Given the description of an element on the screen output the (x, y) to click on. 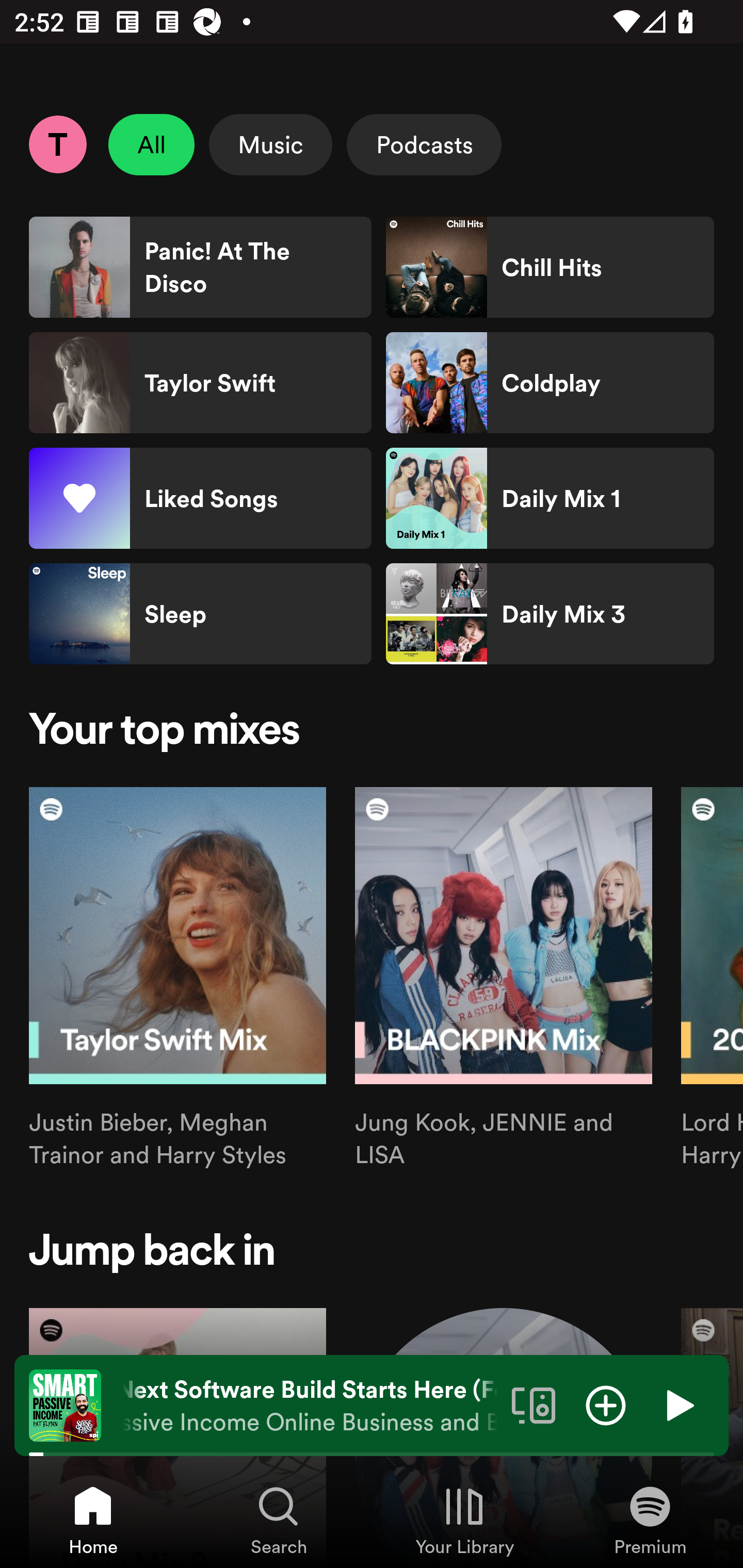
Profile (57, 144)
All Unselect All (151, 144)
Music Select Music (270, 144)
Podcasts Select Podcasts (423, 144)
Panic! At The Disco Shortcut Panic! At The Disco (199, 267)
Chill Hits Shortcut Chill Hits (549, 267)
Taylor Swift Shortcut Taylor Swift (199, 382)
Coldplay Shortcut Coldplay (549, 382)
Liked Songs Shortcut Liked Songs (199, 498)
Daily Mix 1 Shortcut Daily Mix 1 (549, 498)
Sleep Shortcut Sleep (199, 613)
Daily Mix 3 Shortcut Daily Mix 3 (549, 613)
The cover art of the currently playing track (64, 1404)
Connect to a device. Opens the devices menu (533, 1404)
Add item (605, 1404)
Play (677, 1404)
Home, Tab 1 of 4 Home Home (92, 1519)
Search, Tab 2 of 4 Search Search (278, 1519)
Your Library, Tab 3 of 4 Your Library Your Library (464, 1519)
Premium, Tab 4 of 4 Premium Premium (650, 1519)
